Given the description of an element on the screen output the (x, y) to click on. 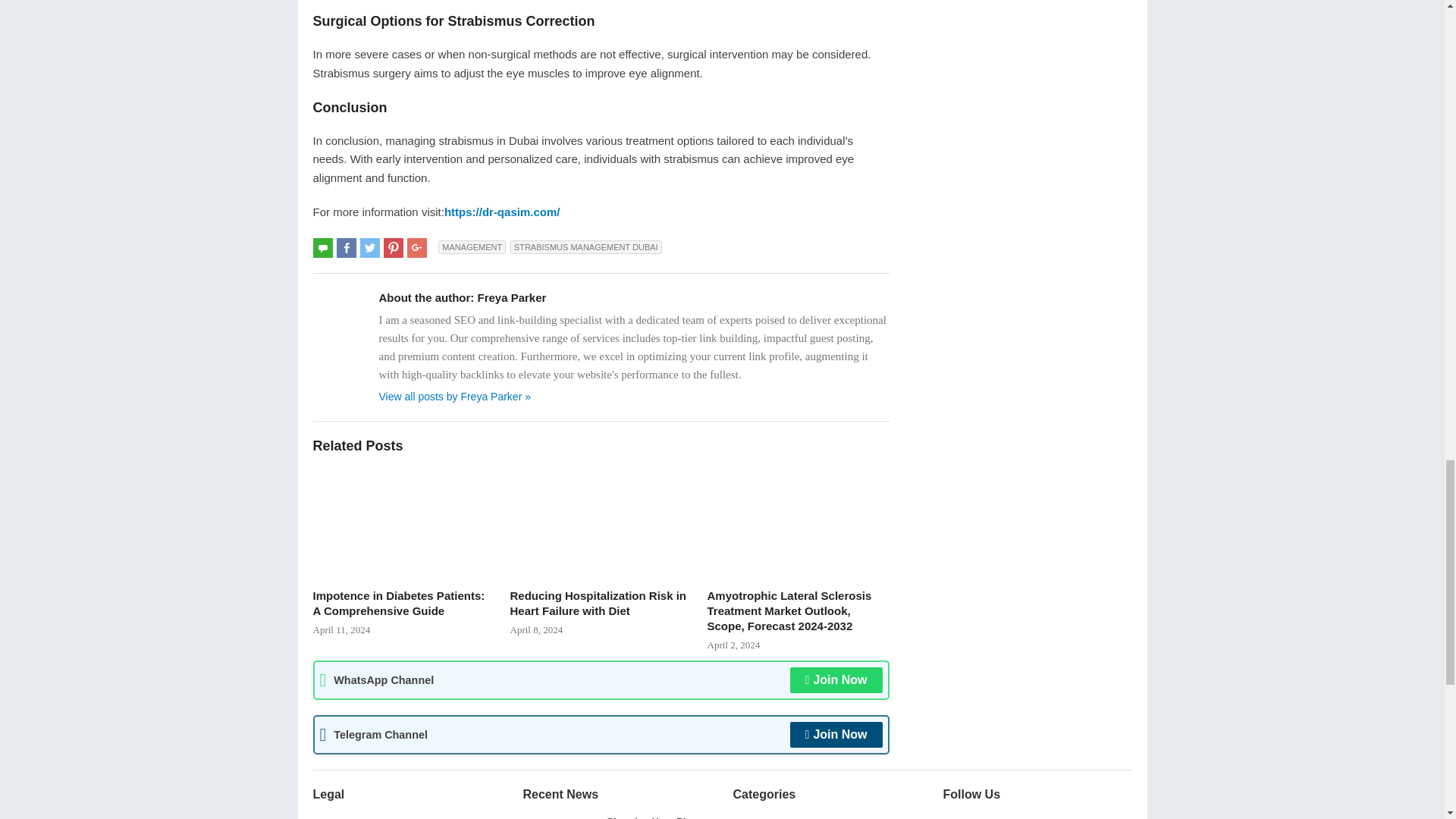
Share on Twitter (369, 247)
Share on Facebook (346, 247)
Share on Pinterest (393, 247)
Reducing Hospitalization Risk in Heart Failure with Diet (600, 522)
Impotence in Diabetes  Patients: A Comprehensive Guide (404, 522)
